Given the description of an element on the screen output the (x, y) to click on. 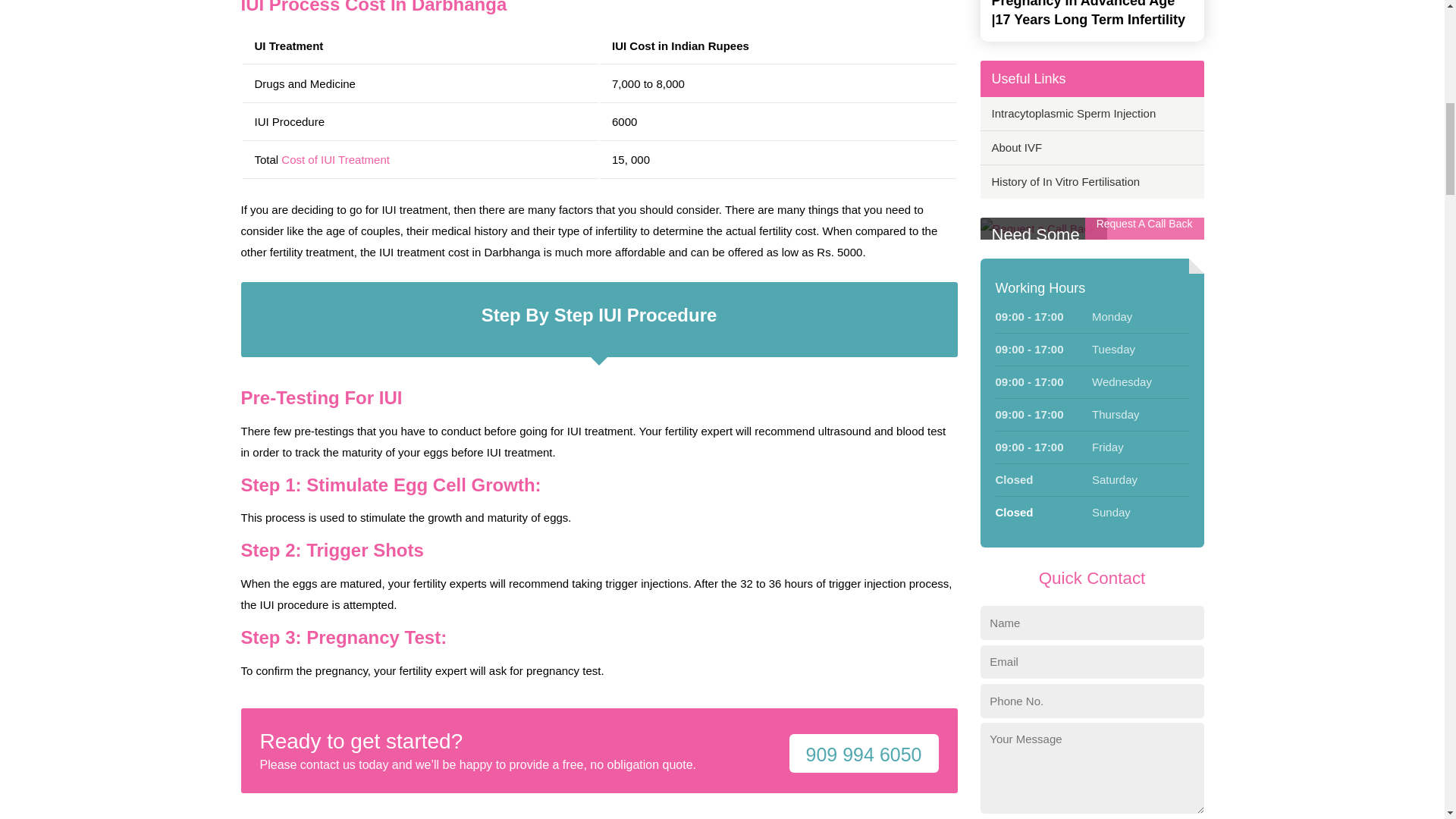
Request a Call Back (1036, 228)
IUI Cost In India (335, 159)
